Given the description of an element on the screen output the (x, y) to click on. 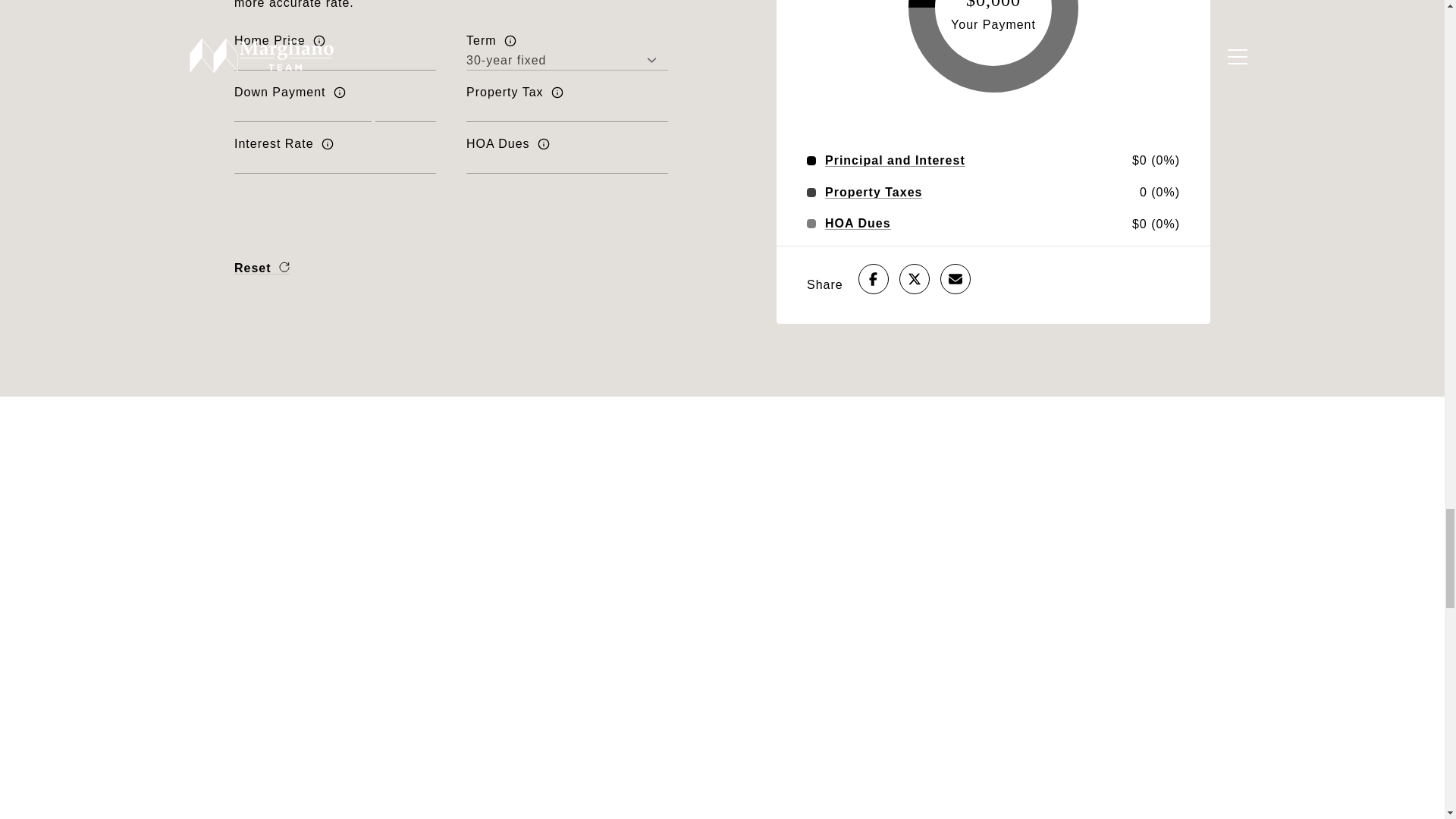
HOA Dues (858, 223)
Reset (261, 267)
Principal and Interest (895, 160)
Property Taxes (873, 192)
